Given the description of an element on the screen output the (x, y) to click on. 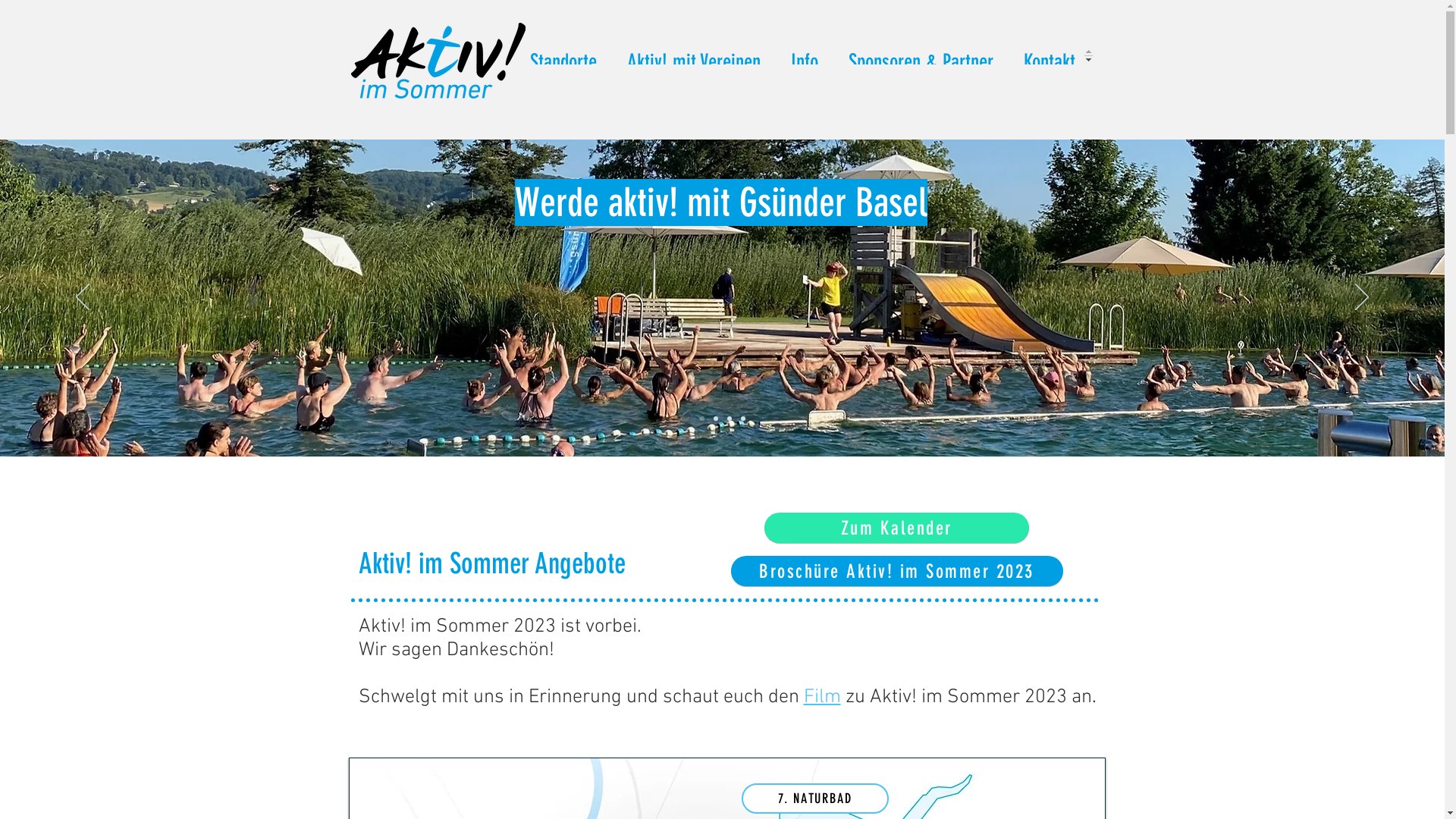
Sponsoren & Partner Element type: text (919, 55)
Standorte Element type: text (562, 55)
Zum Kalender Element type: text (896, 527)
Aktiv! mit Vereinen Element type: text (693, 55)
Kontakt Element type: text (1049, 55)
Film Element type: text (821, 697)
7. NATURBAD Element type: text (814, 798)
Info Element type: text (803, 55)
